Given the description of an element on the screen output the (x, y) to click on. 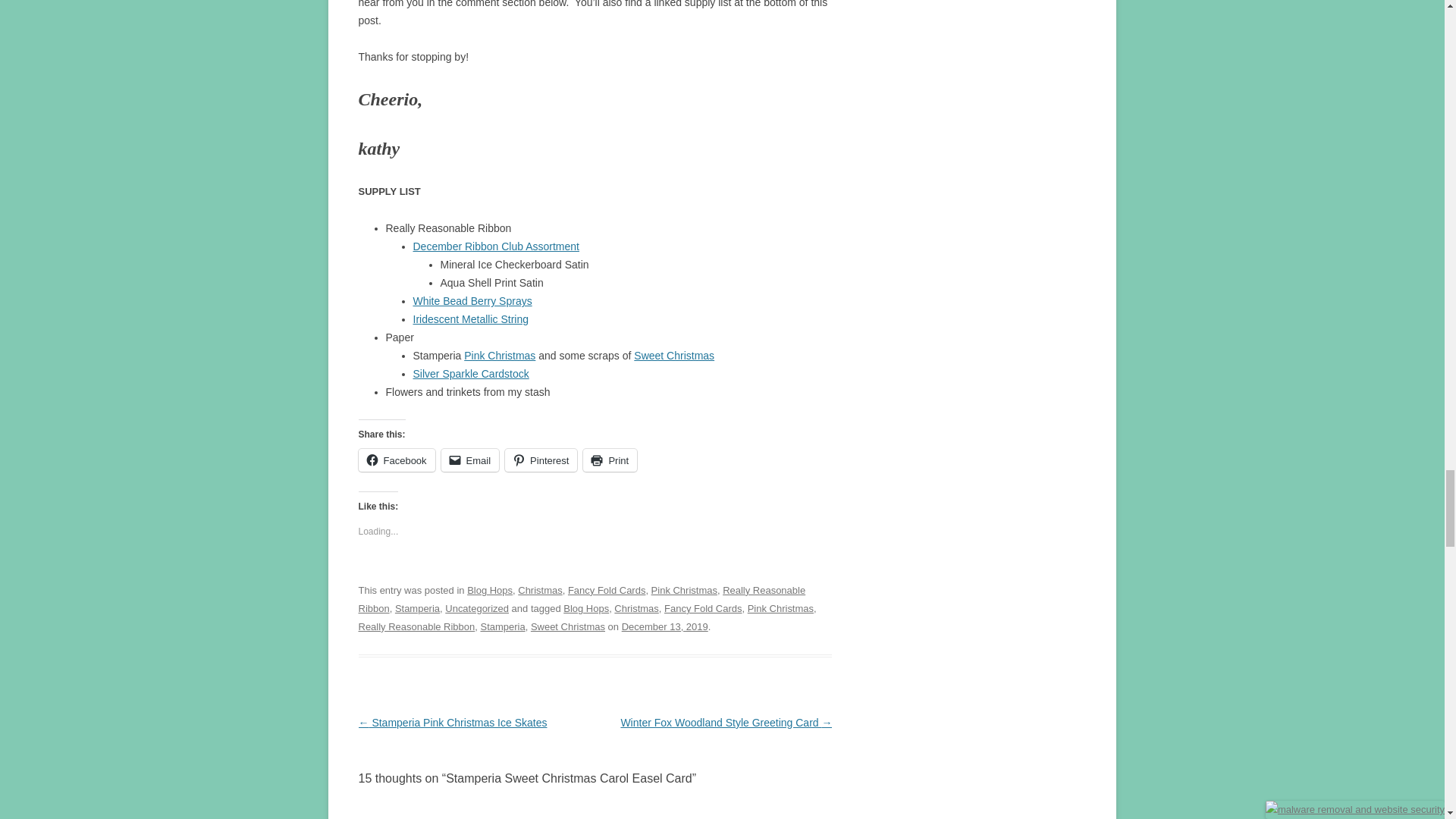
Fancy Fold Cards (702, 608)
Christmas (540, 590)
Sweet Christmas (673, 355)
Blog Hops (489, 590)
Iridescent Metallic String (470, 318)
Click to share on Facebook (395, 459)
Click to email a link to a friend (470, 459)
Click to share on Pinterest (540, 459)
Uncategorized (476, 608)
Blog Hops (585, 608)
Silver Sparkle Cardstock (470, 373)
Email (470, 459)
Pink Christmas (780, 608)
Pink Christmas (683, 590)
Facebook (395, 459)
